Given the description of an element on the screen output the (x, y) to click on. 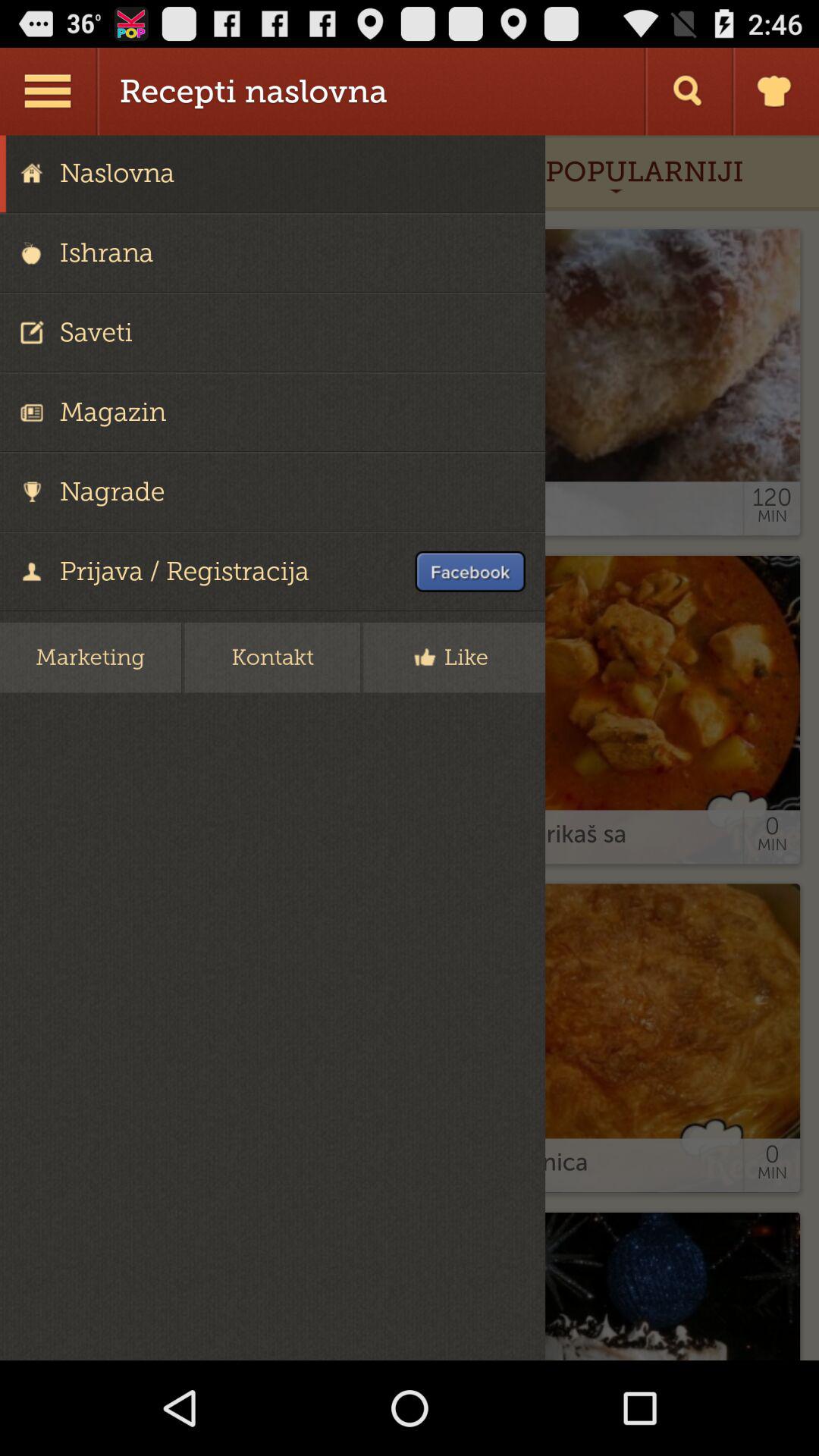
display field (409, 747)
